Given the description of an element on the screen output the (x, y) to click on. 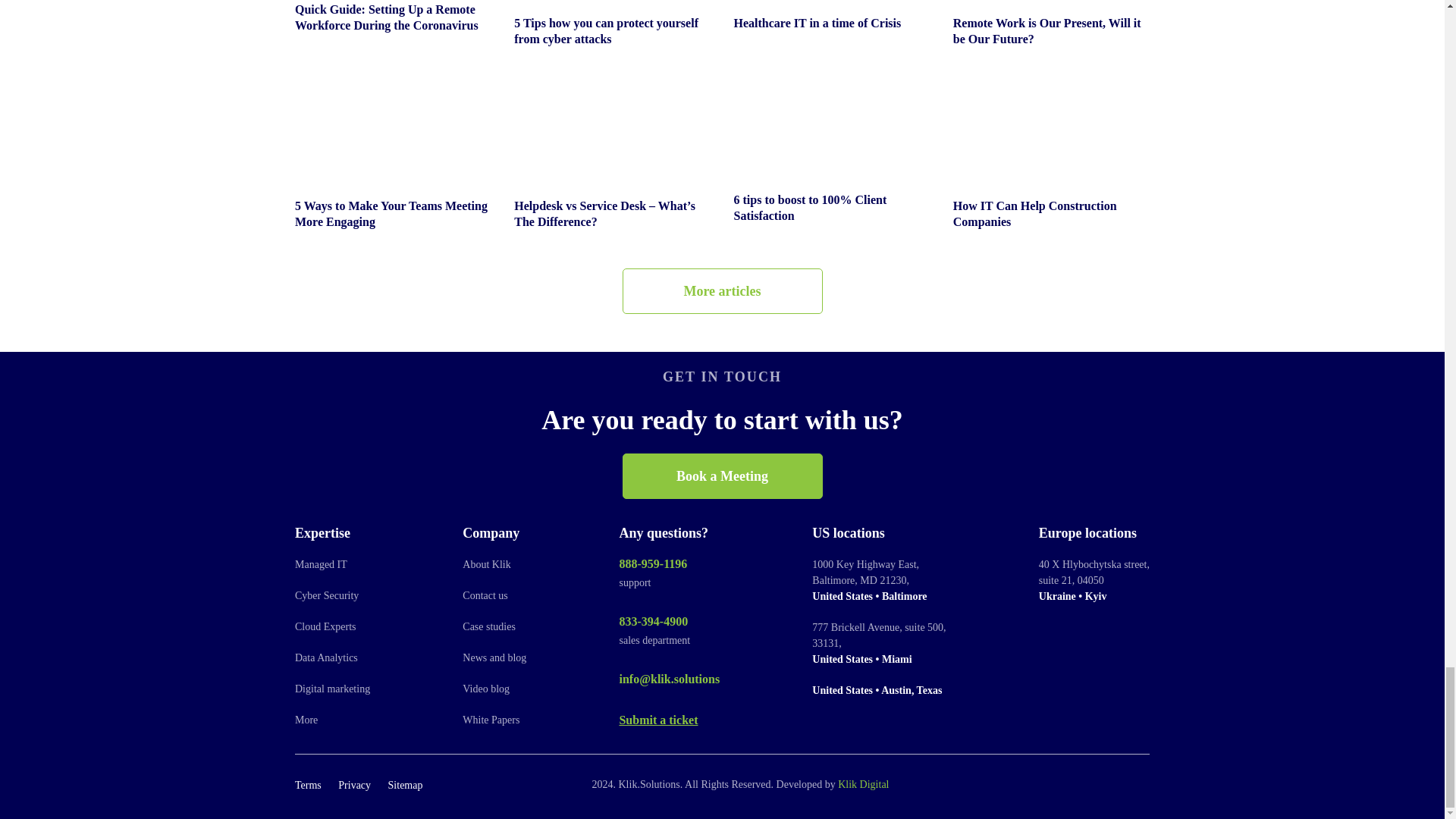
How IT Can Help Construction Companies 15 (1051, 121)
5 Ways to Make Your Teams Meeting More Engaging 12 (393, 121)
